Given the description of an element on the screen output the (x, y) to click on. 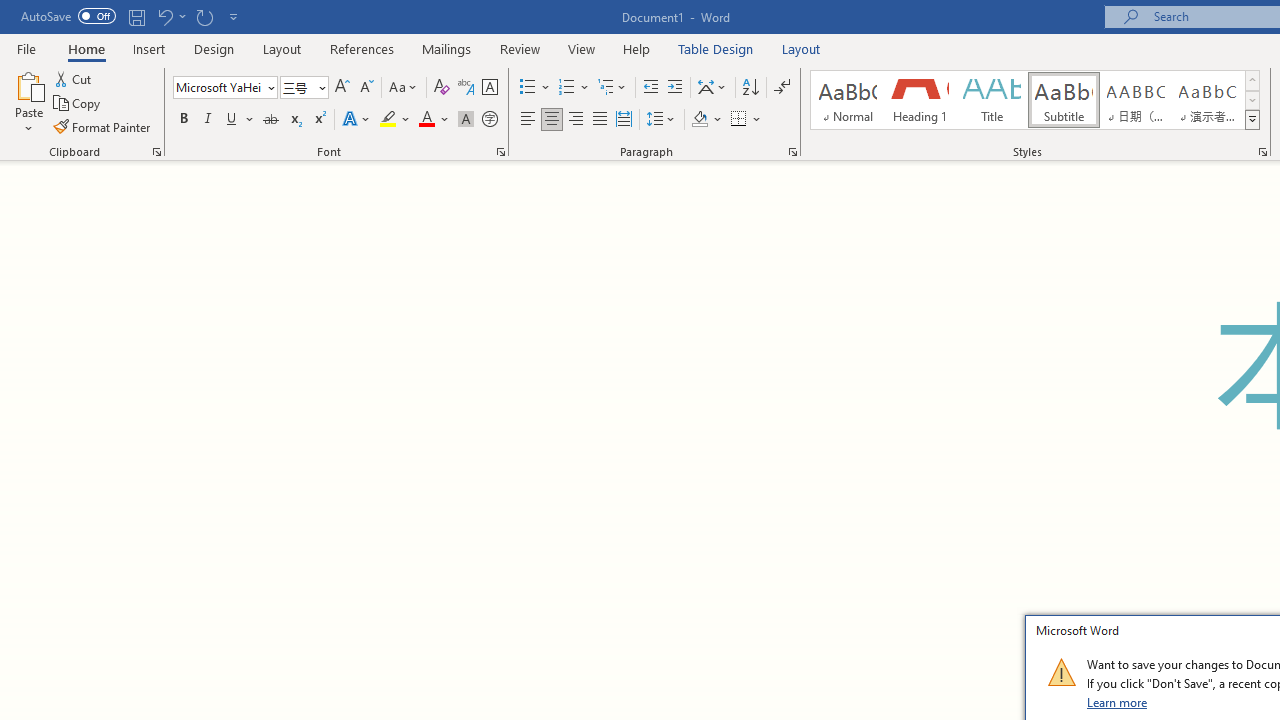
Bold (183, 119)
Asian Layout (712, 87)
Character Border (489, 87)
Sort... (750, 87)
Decrease Indent (650, 87)
Title (991, 100)
Line and Paragraph Spacing (661, 119)
Table Design (715, 48)
